Given the description of an element on the screen output the (x, y) to click on. 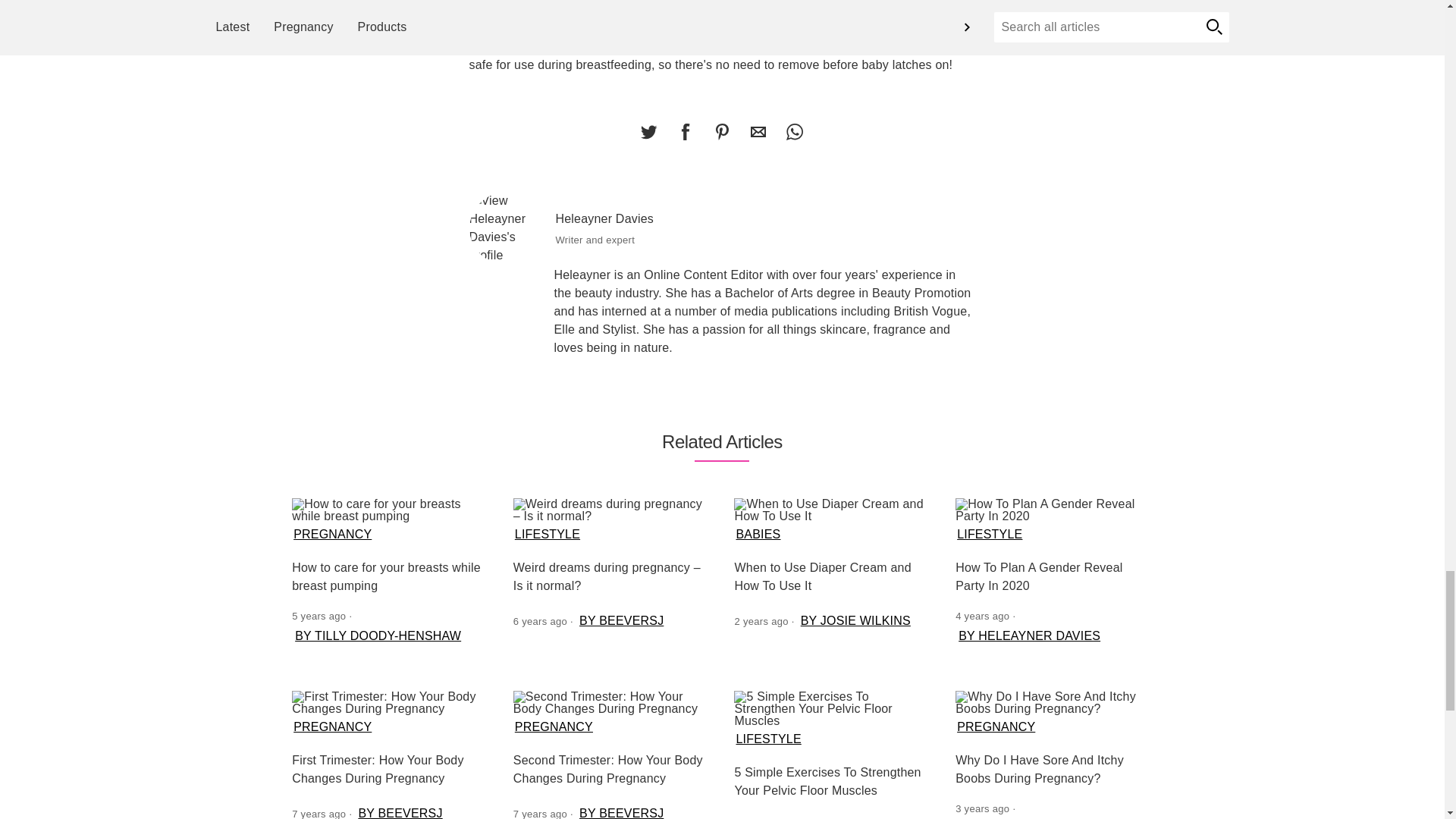
Share this on Pinterest (721, 132)
Heleayner Davies (505, 227)
Share this by Email (757, 132)
Share this on Twitter (648, 132)
Share this on Facebook (684, 132)
Share this on WhatsApp (793, 132)
